Given the description of an element on the screen output the (x, y) to click on. 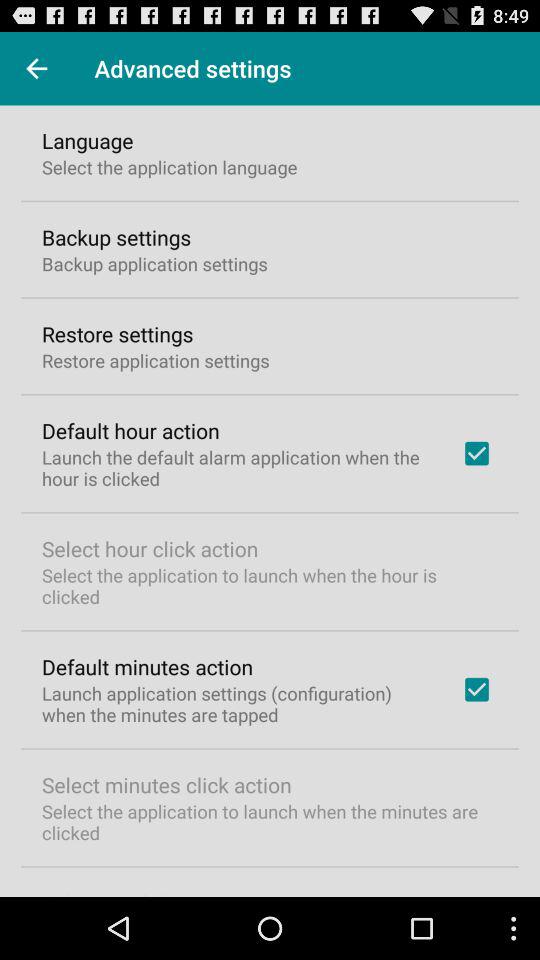
tap the icon to the left of advanced settings icon (36, 68)
